Given the description of an element on the screen output the (x, y) to click on. 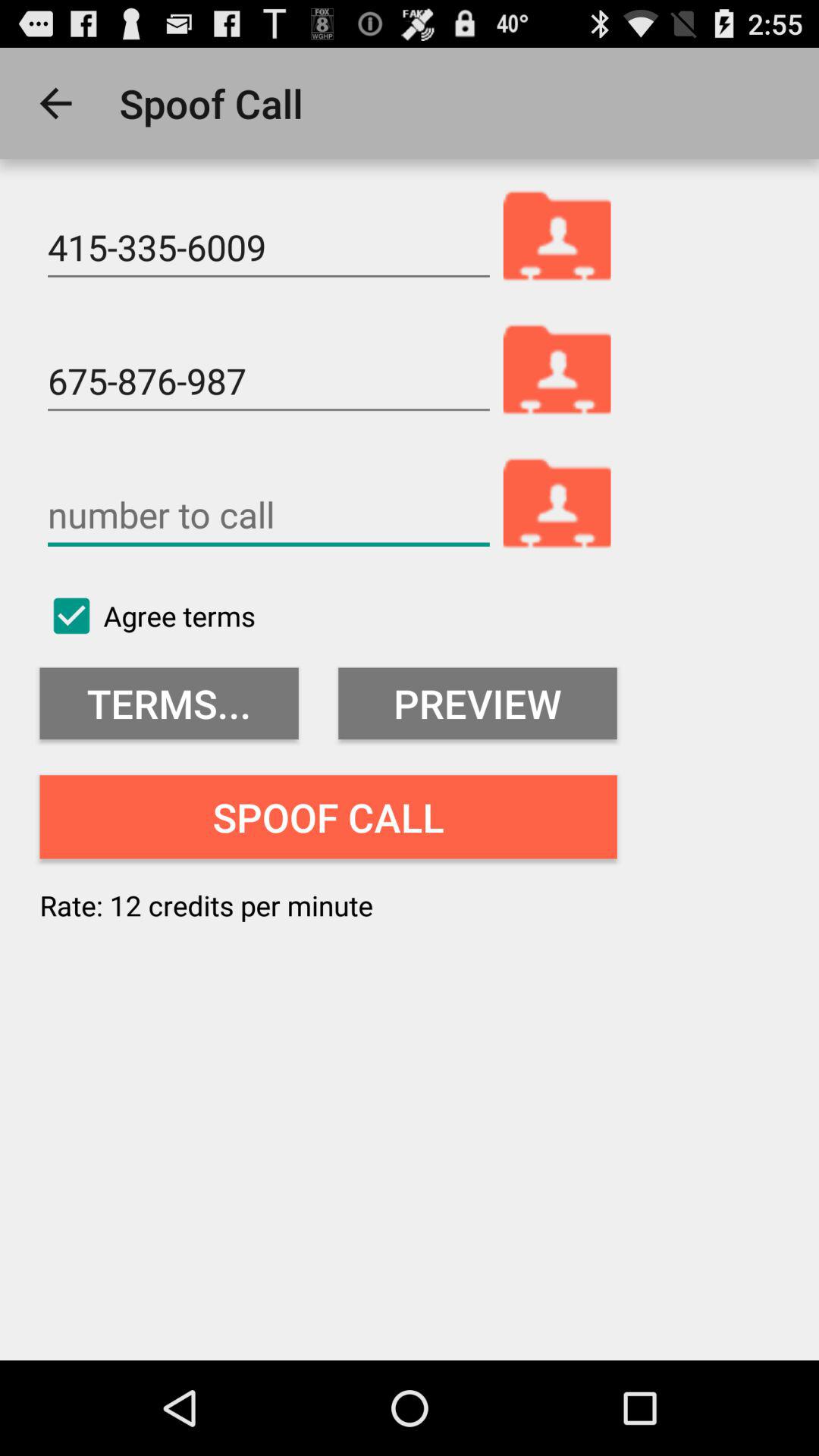
tap item above spoof call item (168, 703)
